Given the description of an element on the screen output the (x, y) to click on. 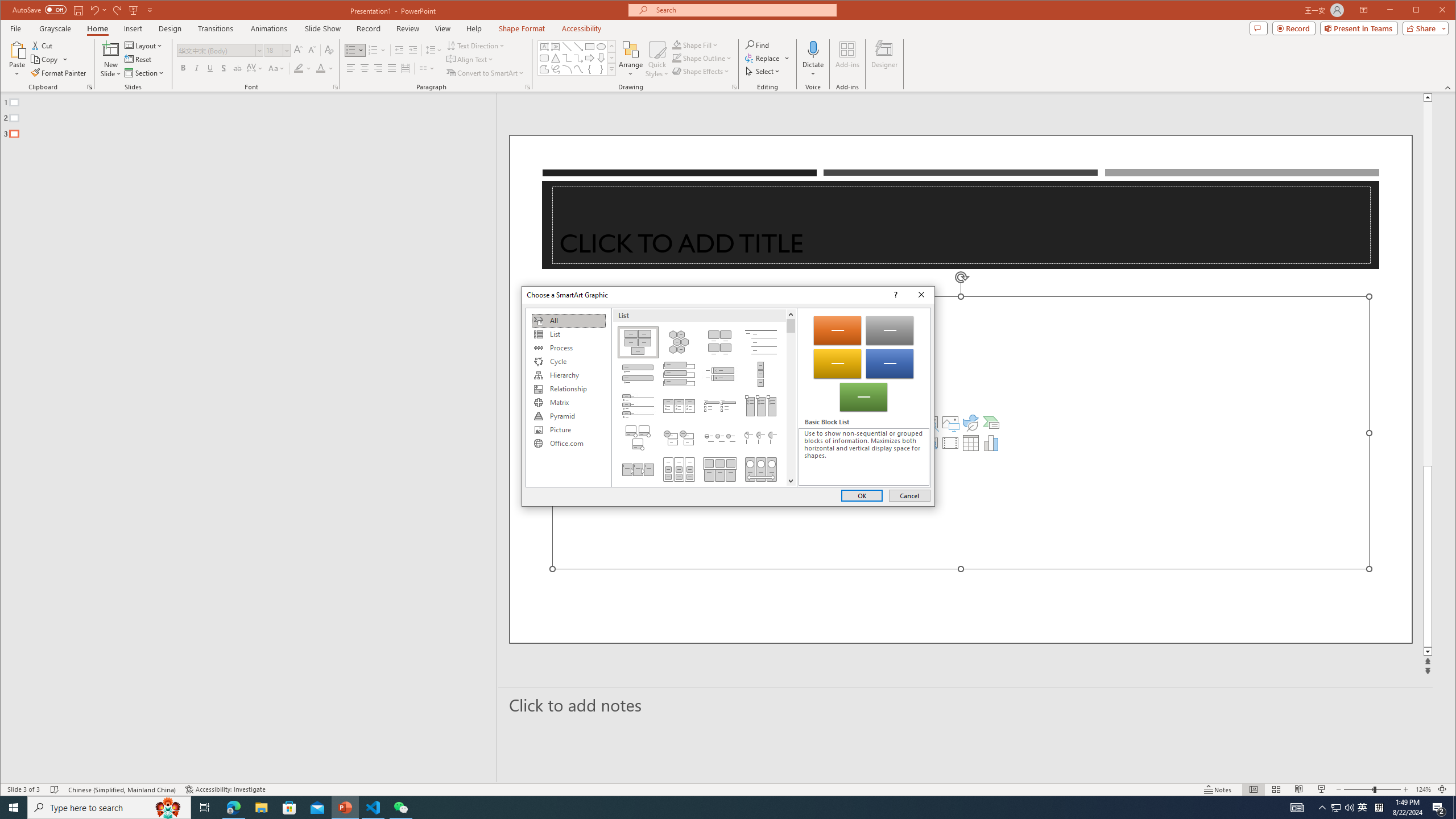
Hierarchy (568, 375)
Section (144, 72)
Cut (42, 45)
Line down (790, 480)
Increase Font Size (297, 49)
Grayscale (55, 28)
Shapes (611, 69)
New Slide (110, 59)
Font Size (273, 50)
Bold (182, 68)
Underline (209, 68)
